Given the description of an element on the screen output the (x, y) to click on. 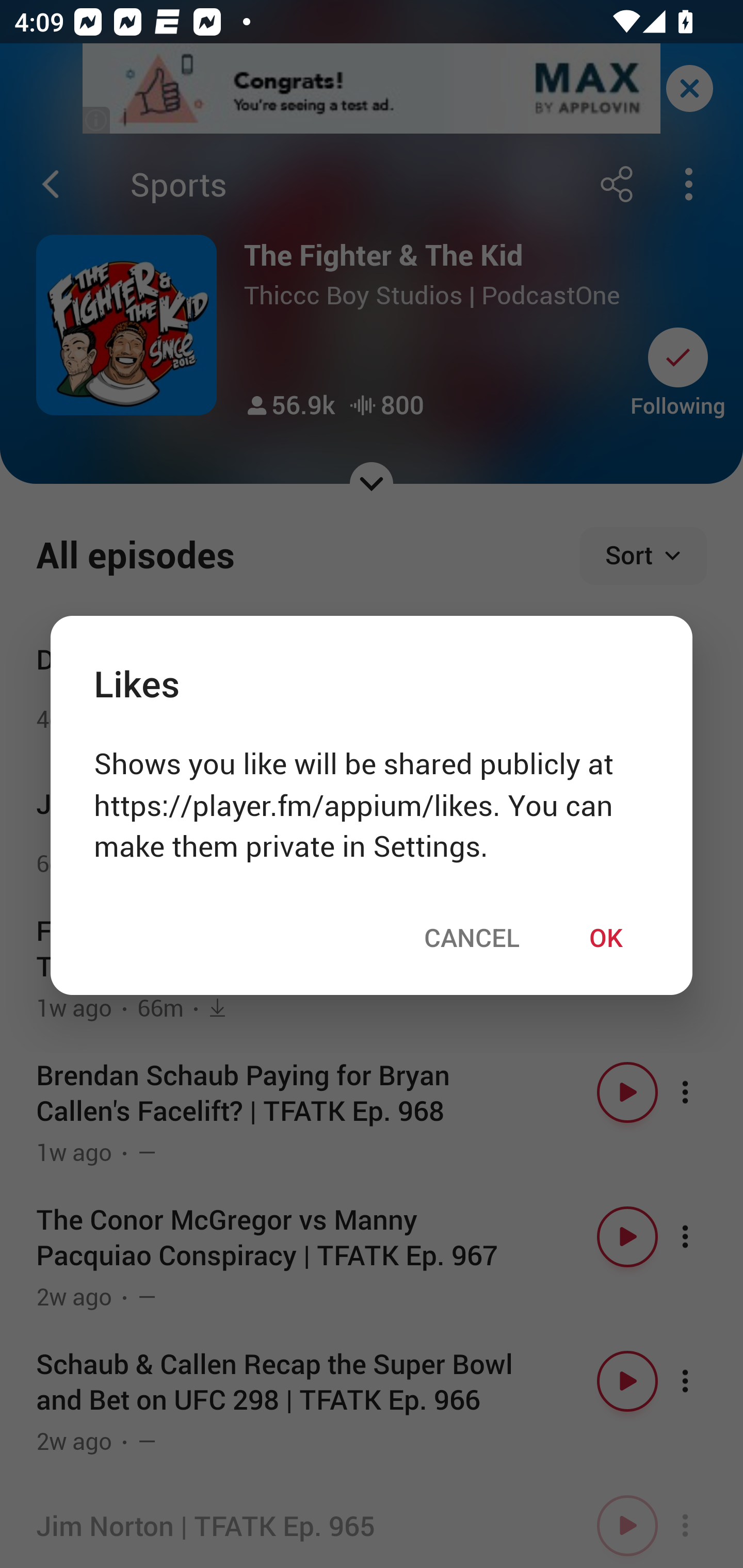
CANCEL (470, 936)
OK (605, 936)
